Given the description of an element on the screen output the (x, y) to click on. 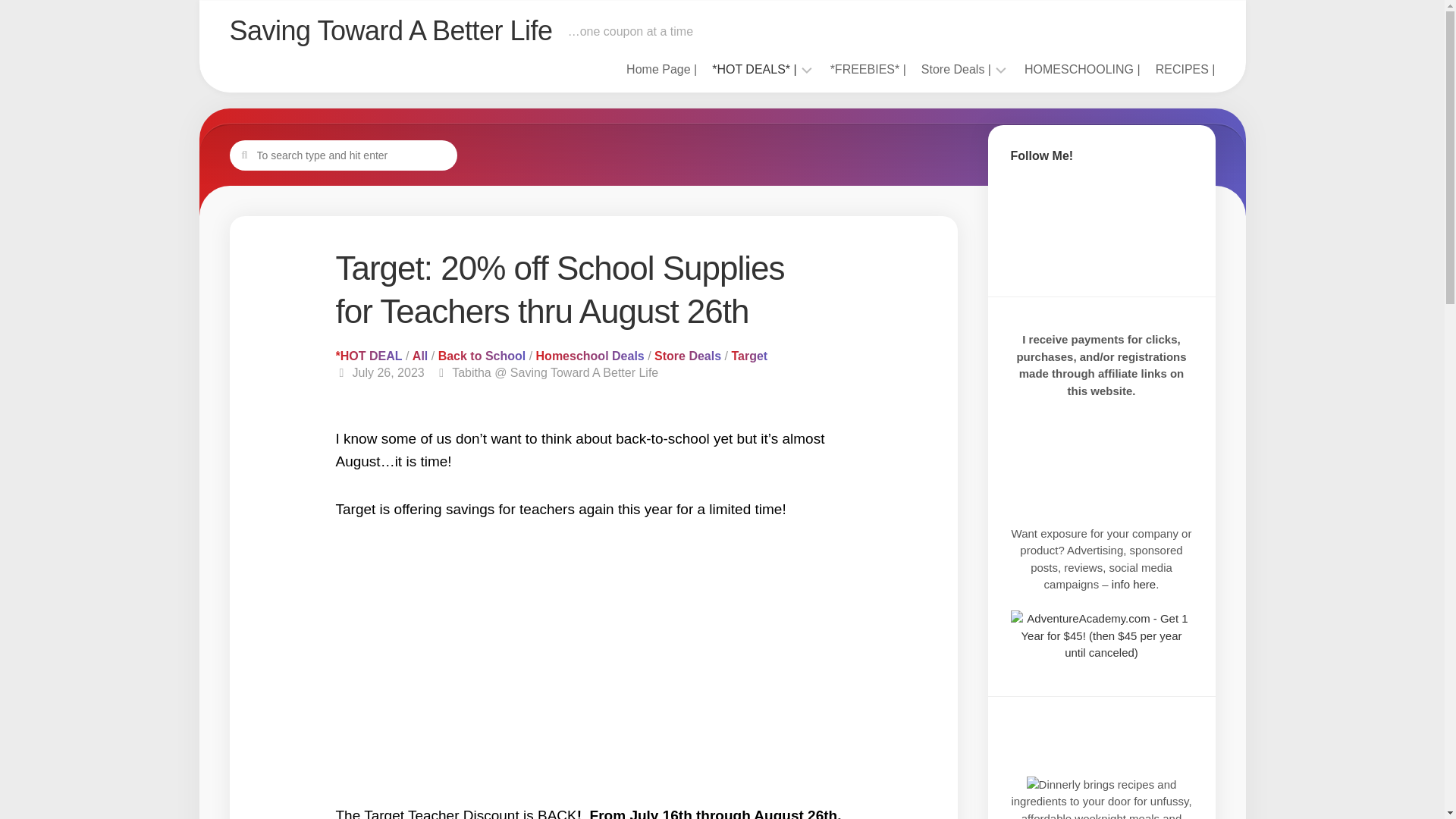
Home (661, 69)
Store Deals (956, 69)
To search type and hit enter (342, 154)
All (420, 355)
Back to School (481, 355)
To search type and hit enter (342, 154)
Saving Toward A Better Life (389, 31)
